Given the description of an element on the screen output the (x, y) to click on. 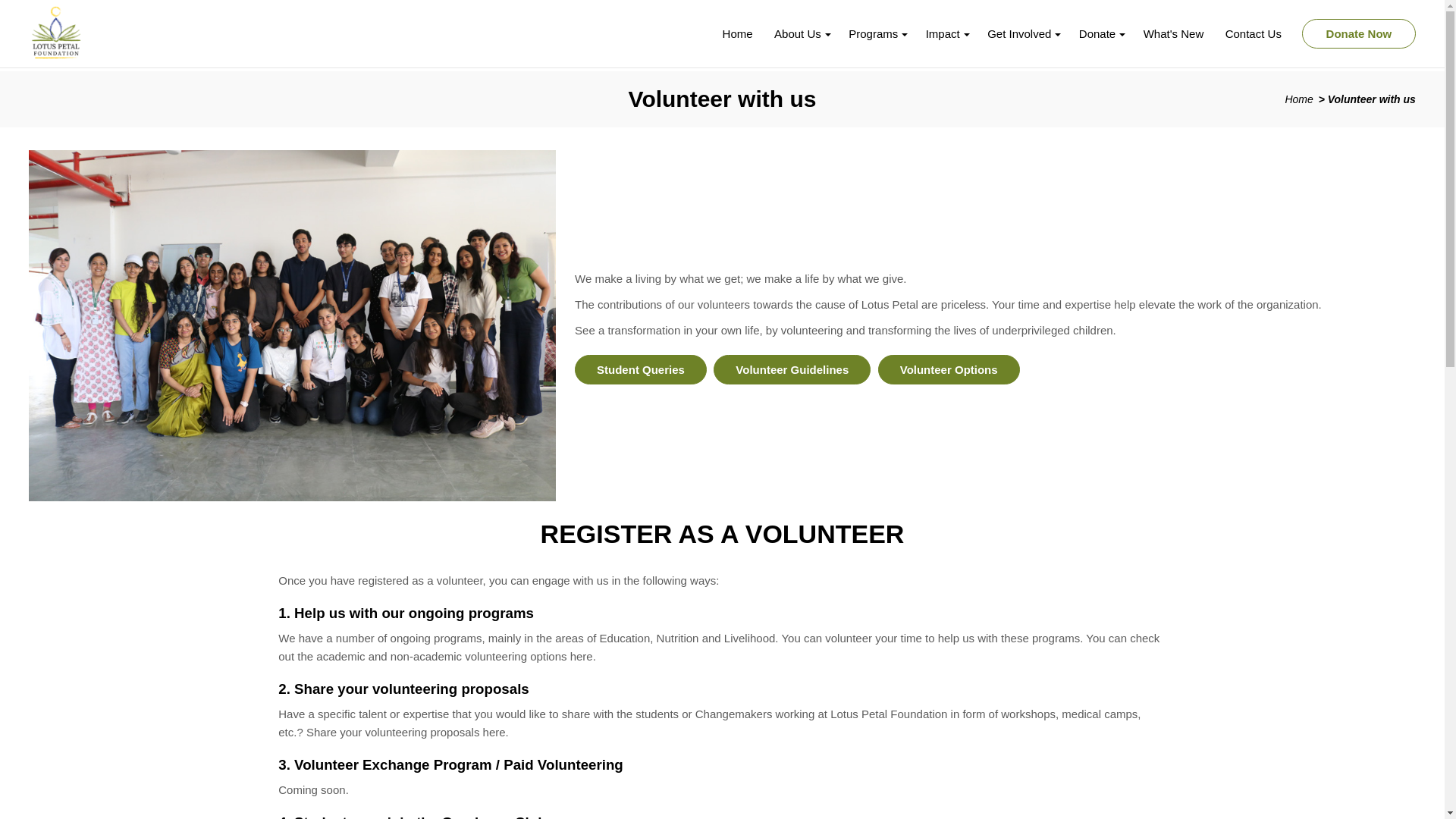
About Us (800, 33)
Donate (1100, 33)
Get Involved (1021, 33)
Programs (876, 33)
